Given the description of an element on the screen output the (x, y) to click on. 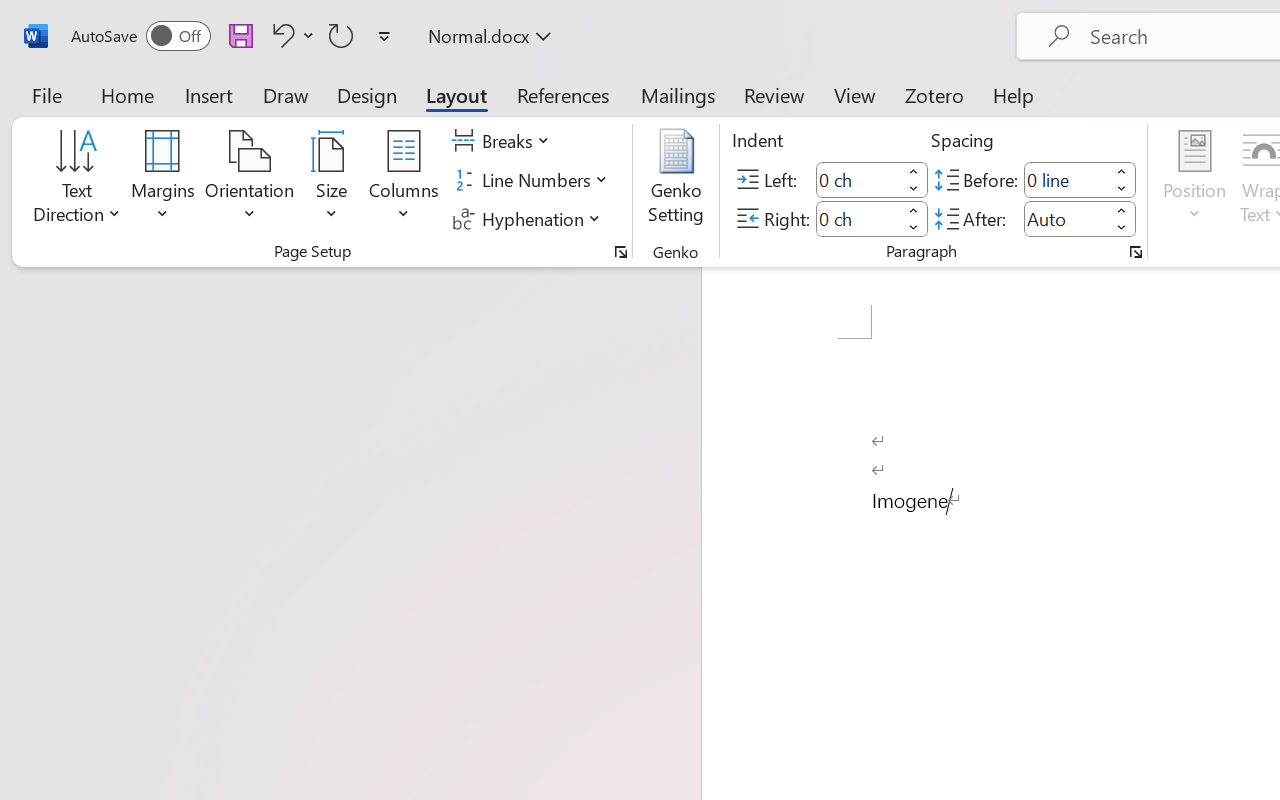
Size (331, 179)
Repeat Paragraph Formatting (341, 35)
Indent Left (858, 179)
Position (1194, 179)
Indent Right (858, 218)
More (1121, 210)
Margins (163, 179)
